Given the description of an element on the screen output the (x, y) to click on. 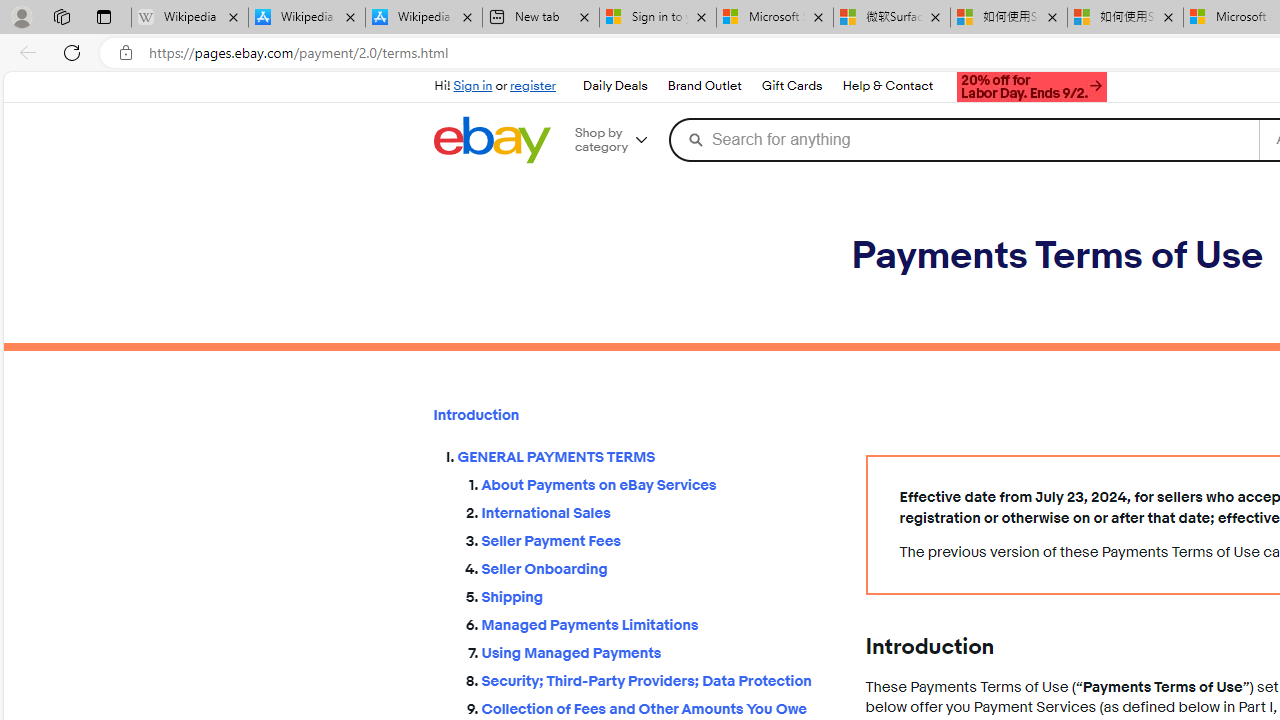
GENERAL PAYMENTS TERMS (645, 457)
About Payments on eBay Services (657, 481)
Daily Deals (614, 86)
Collection of Fees and Other Amounts You Owe (657, 705)
Microsoft Services Agreement (774, 17)
Gift Cards (792, 86)
